Given the description of an element on the screen output the (x, y) to click on. 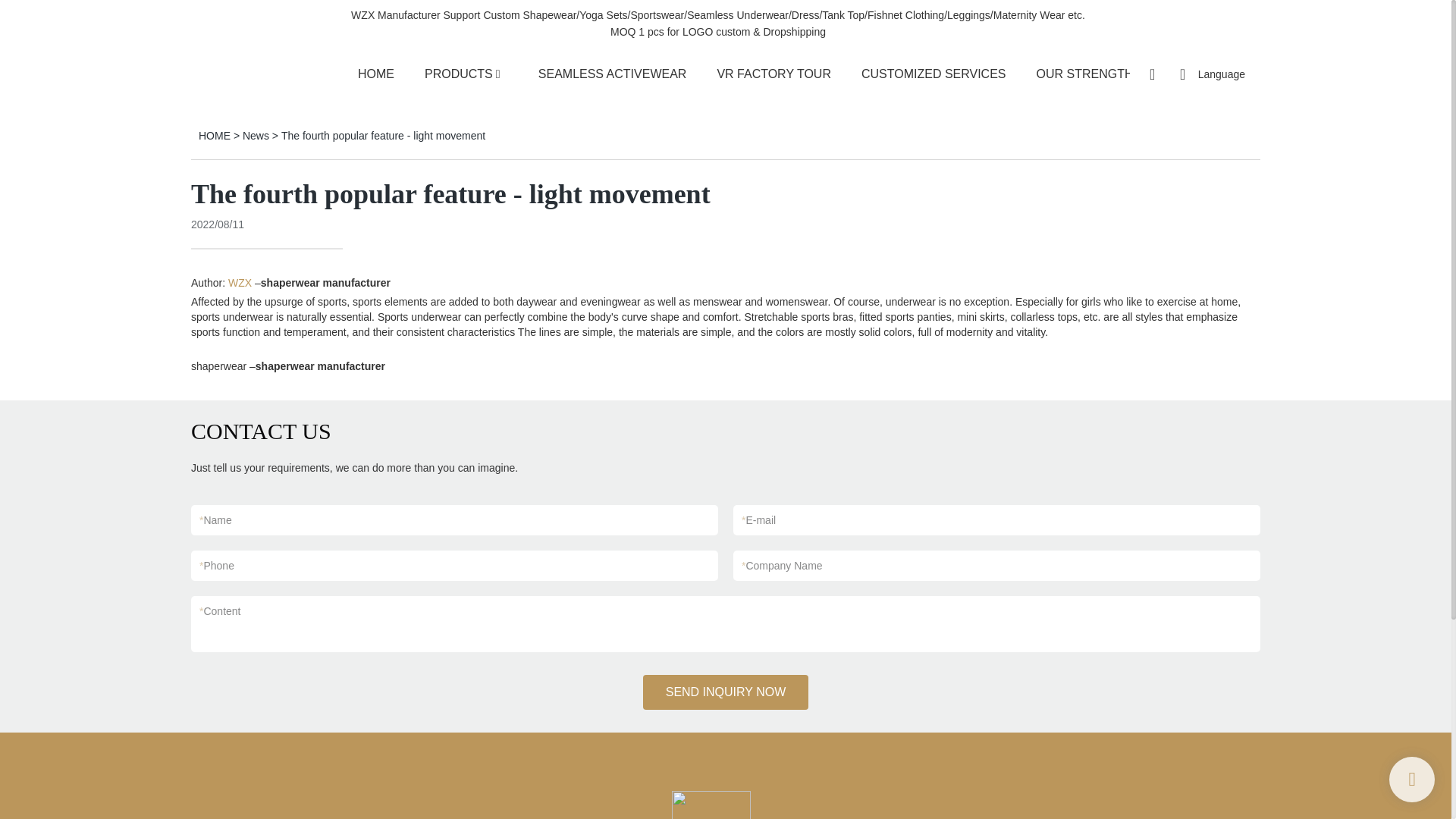
News (256, 135)
SEND INQUIRY NOW (726, 692)
HOME (214, 135)
SEAMLESS ACTIVEWEAR (612, 73)
WZX (239, 282)
PRODUCTS (459, 73)
The fourth popular feature - light movement (382, 135)
VR FACTORY TOUR (773, 73)
OUR STRENGTH (1085, 73)
CUSTOMIZED SERVICES (933, 73)
